Given the description of an element on the screen output the (x, y) to click on. 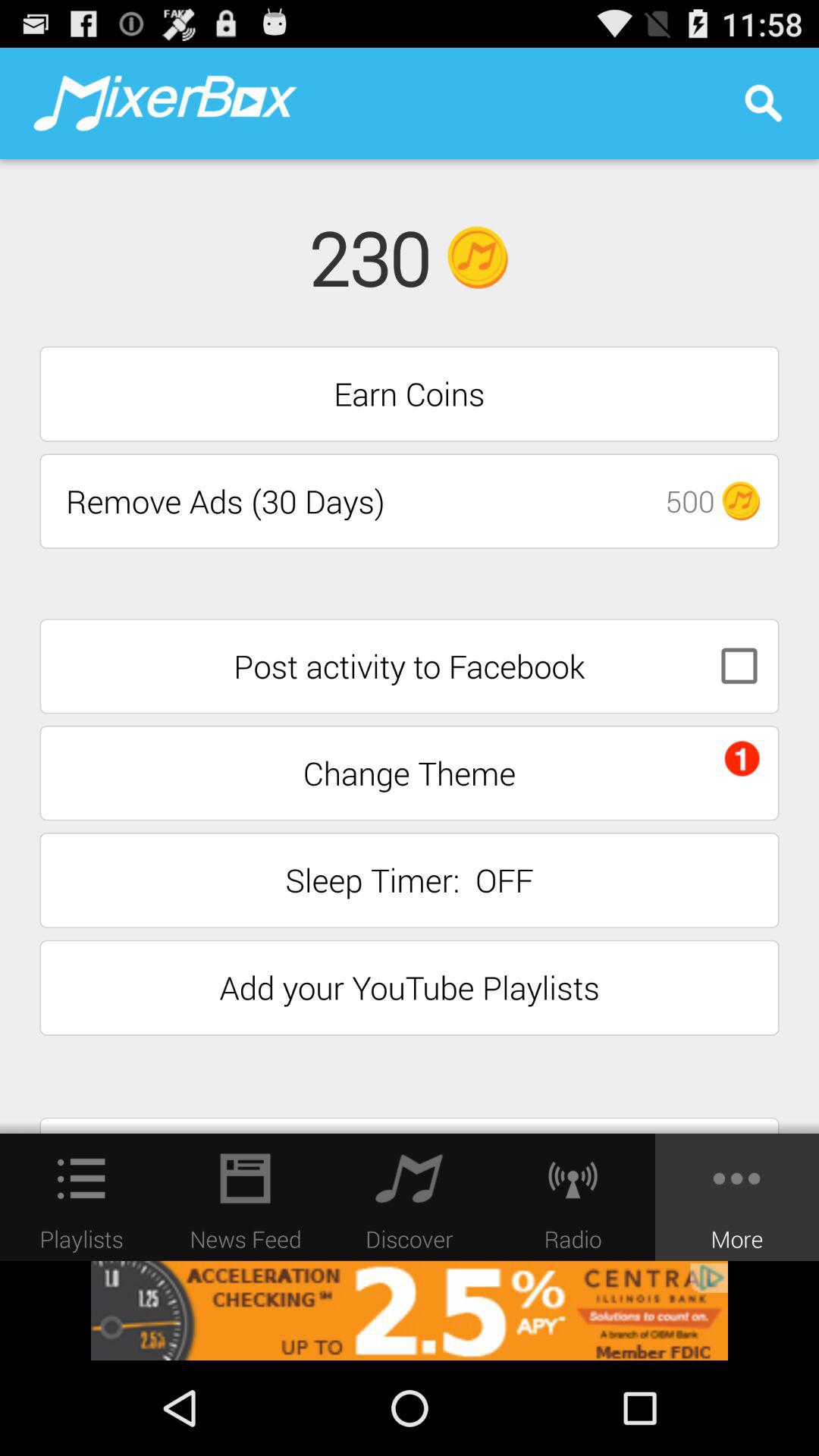
go to search (763, 103)
